Given the description of an element on the screen output the (x, y) to click on. 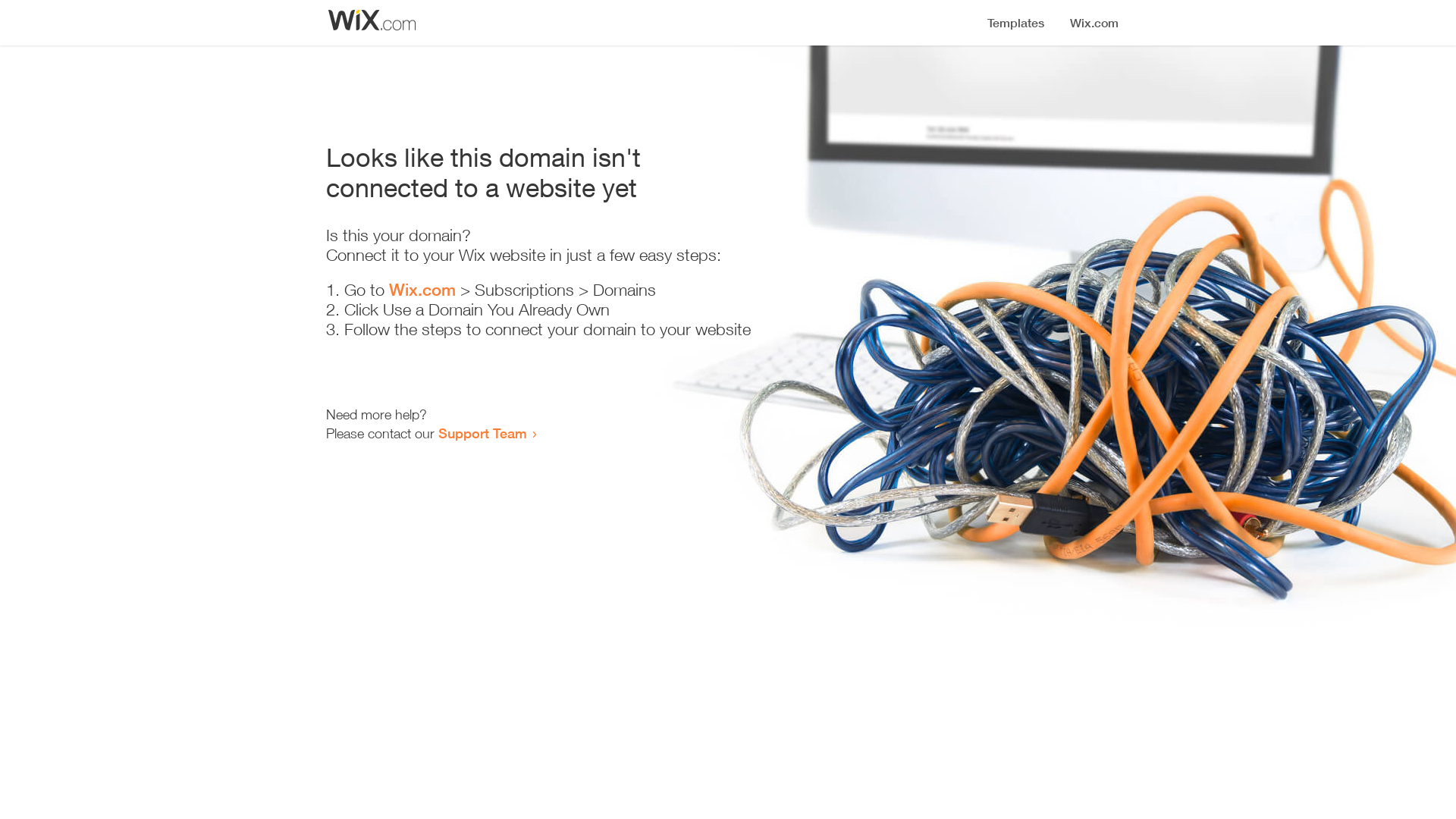
Wix.com Element type: text (422, 289)
Support Team Element type: text (482, 432)
